Given the description of an element on the screen output the (x, y) to click on. 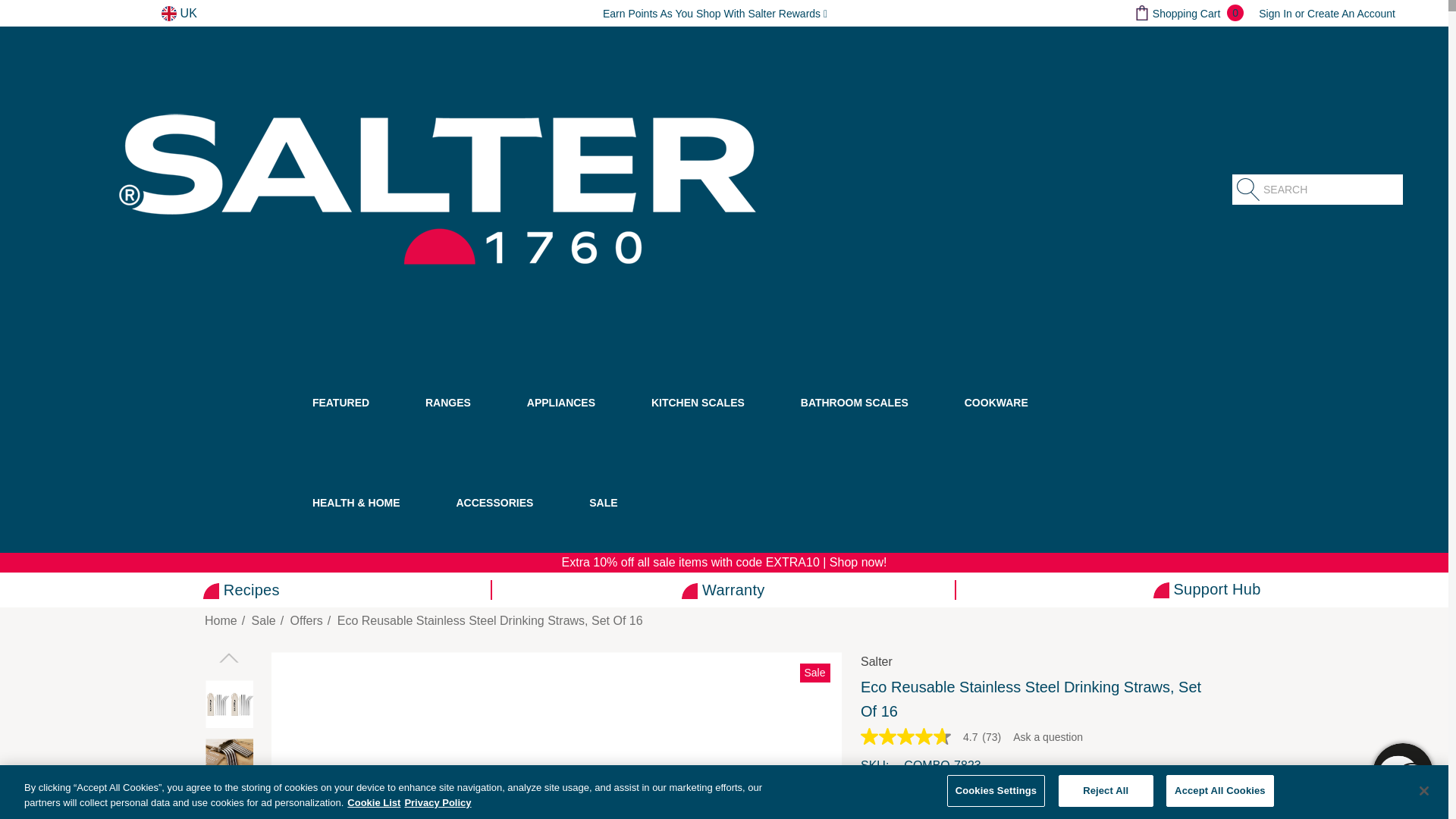
UK (179, 13)
Sign In (1275, 12)
RANGES (433, 421)
Review Your Cart Review Your Cart (1142, 12)
FEATURED (325, 421)
Review Your Cart Review Your Cart Shopping Cart 0 (1187, 13)
Create An Account (1350, 12)
